Given the description of an element on the screen output the (x, y) to click on. 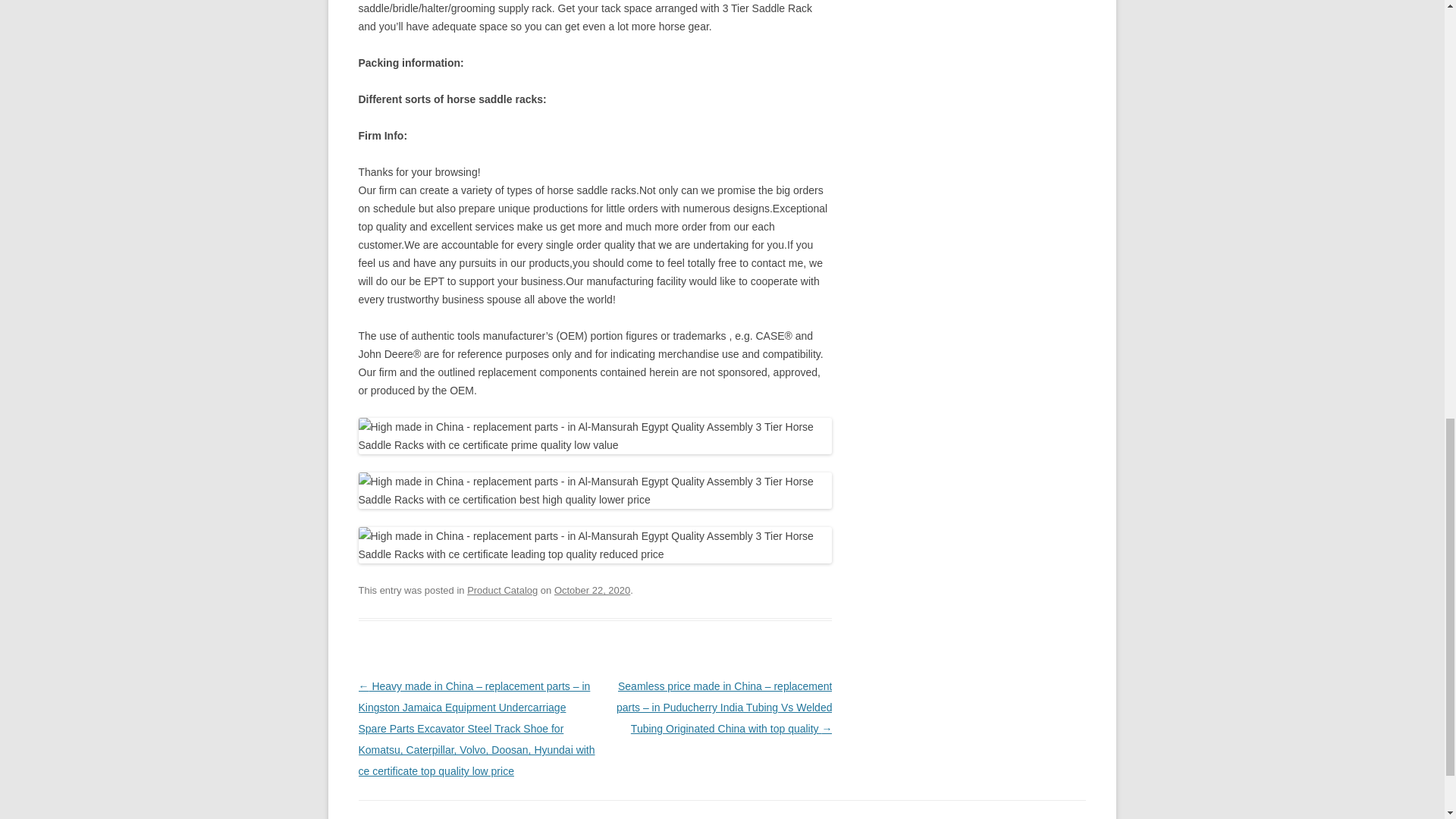
1:13 pm (592, 590)
Product Catalog (502, 590)
October 22, 2020 (592, 590)
